Given the description of an element on the screen output the (x, y) to click on. 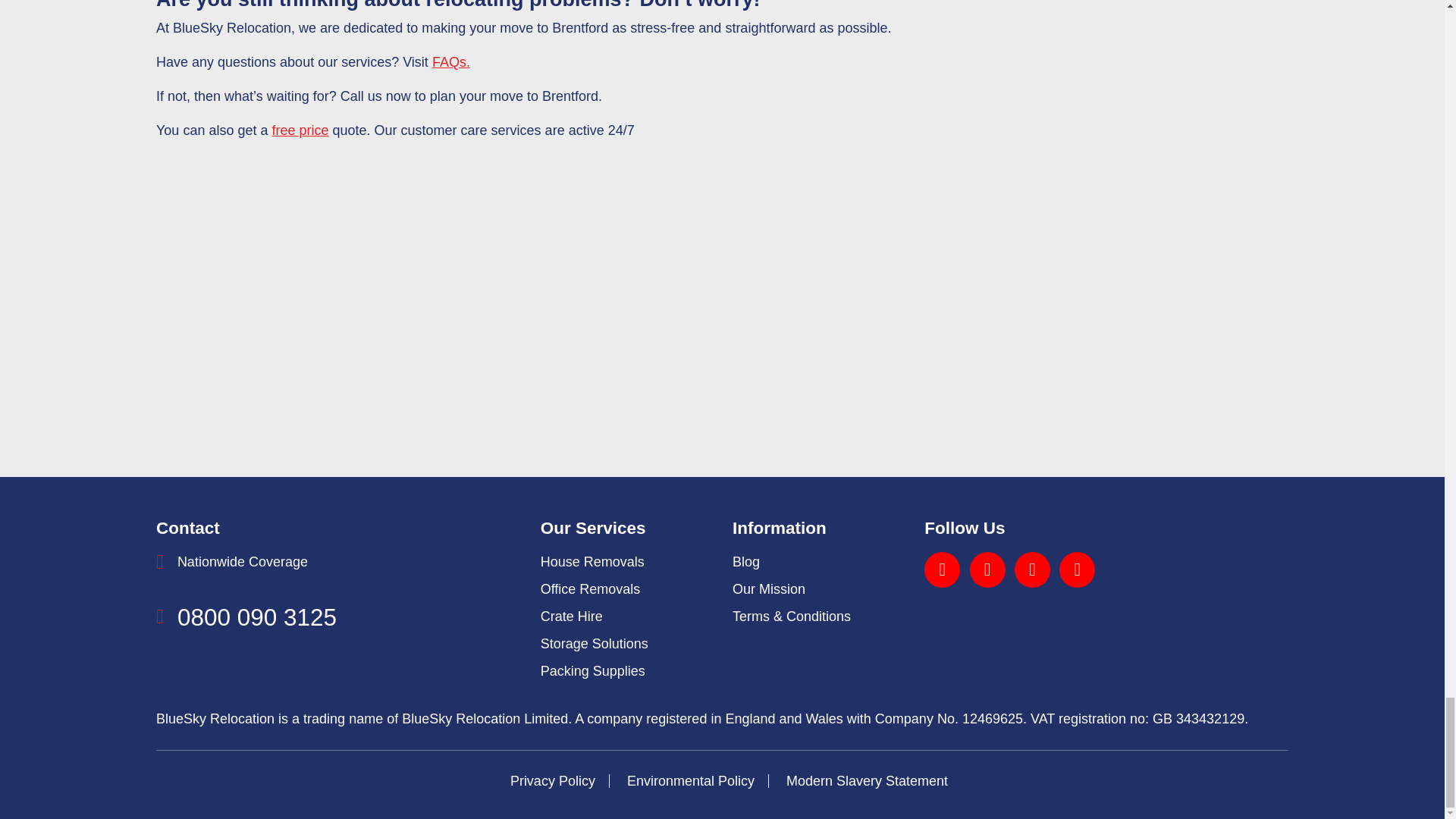
House Removals (592, 561)
Our Mission (768, 589)
FAQs. (451, 61)
Crate Hire (571, 616)
Office Removals (590, 589)
free price (299, 130)
0800 090 3125 (256, 616)
Packing Supplies (592, 670)
Blog (746, 561)
Storage Solutions (593, 643)
